Given the description of an element on the screen output the (x, y) to click on. 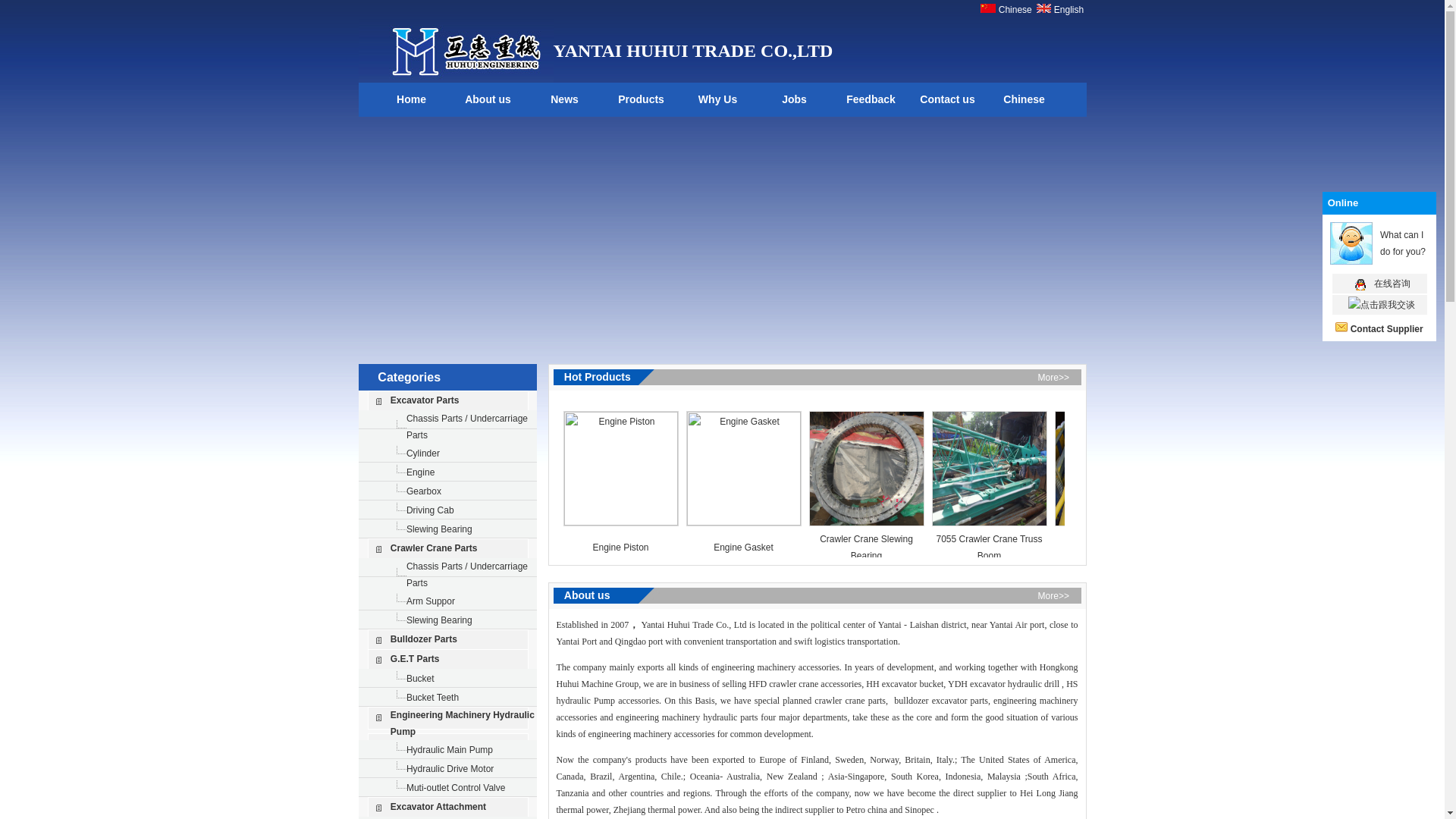
About us (487, 99)
News (564, 99)
Excavator Parts (425, 399)
Bulldozer Parts (423, 638)
Chinese (1012, 9)
Products (641, 99)
Feedback (870, 99)
Driving Cab (430, 510)
Engine (419, 471)
Gearbox (423, 490)
Jobs (794, 99)
Arm Suppor (430, 601)
Contact us (947, 99)
Cylinder (422, 452)
Why Us (717, 99)
